Given the description of an element on the screen output the (x, y) to click on. 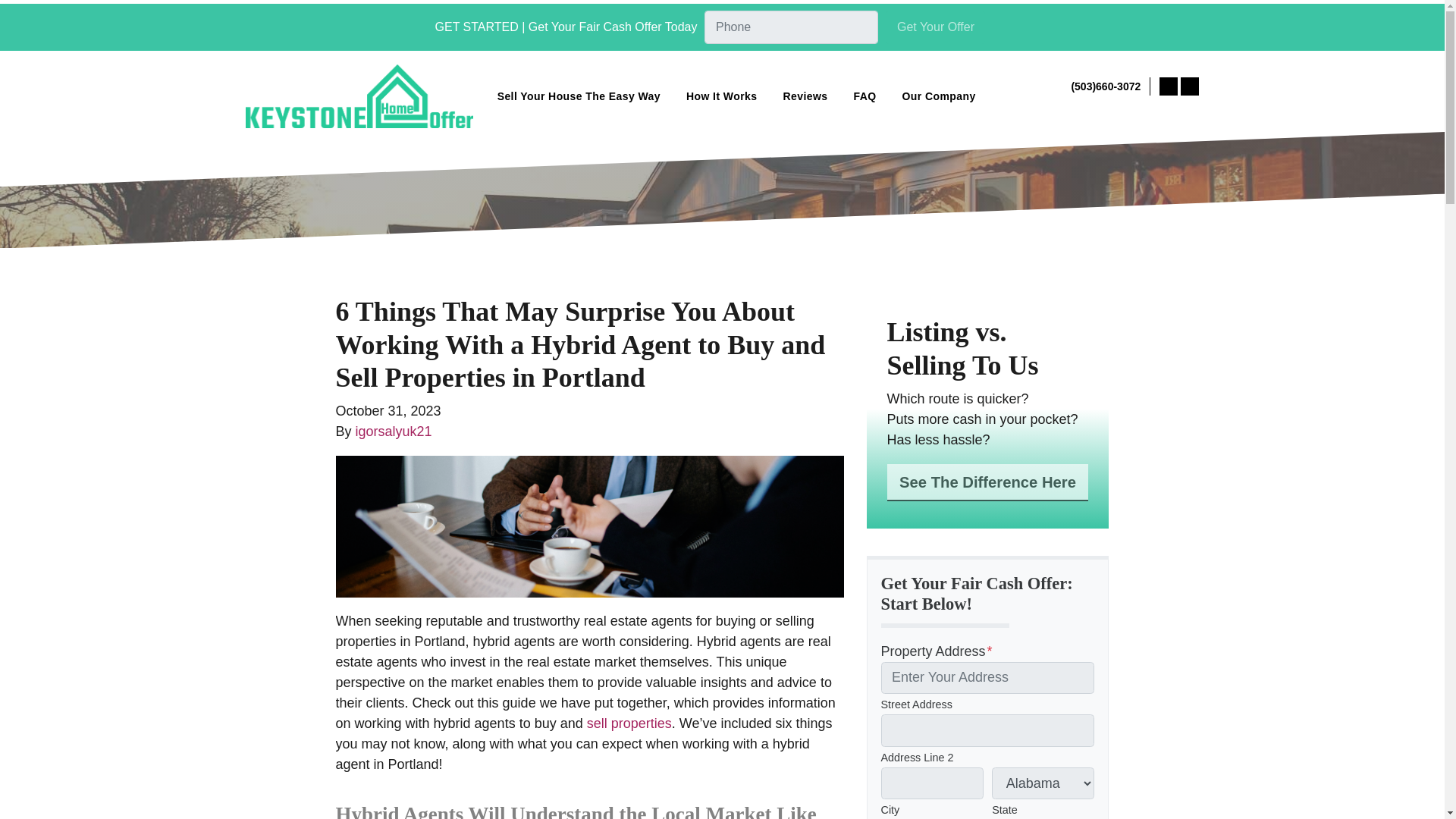
See The Difference Here (987, 482)
Get Your Cash Offer (1073, 107)
Our Company (938, 96)
How It Works (721, 96)
sell properties (628, 723)
Get Your Offer (935, 27)
Instagram (1189, 85)
Facebook (1167, 85)
Get Your Offer (935, 27)
